Given the description of an element on the screen output the (x, y) to click on. 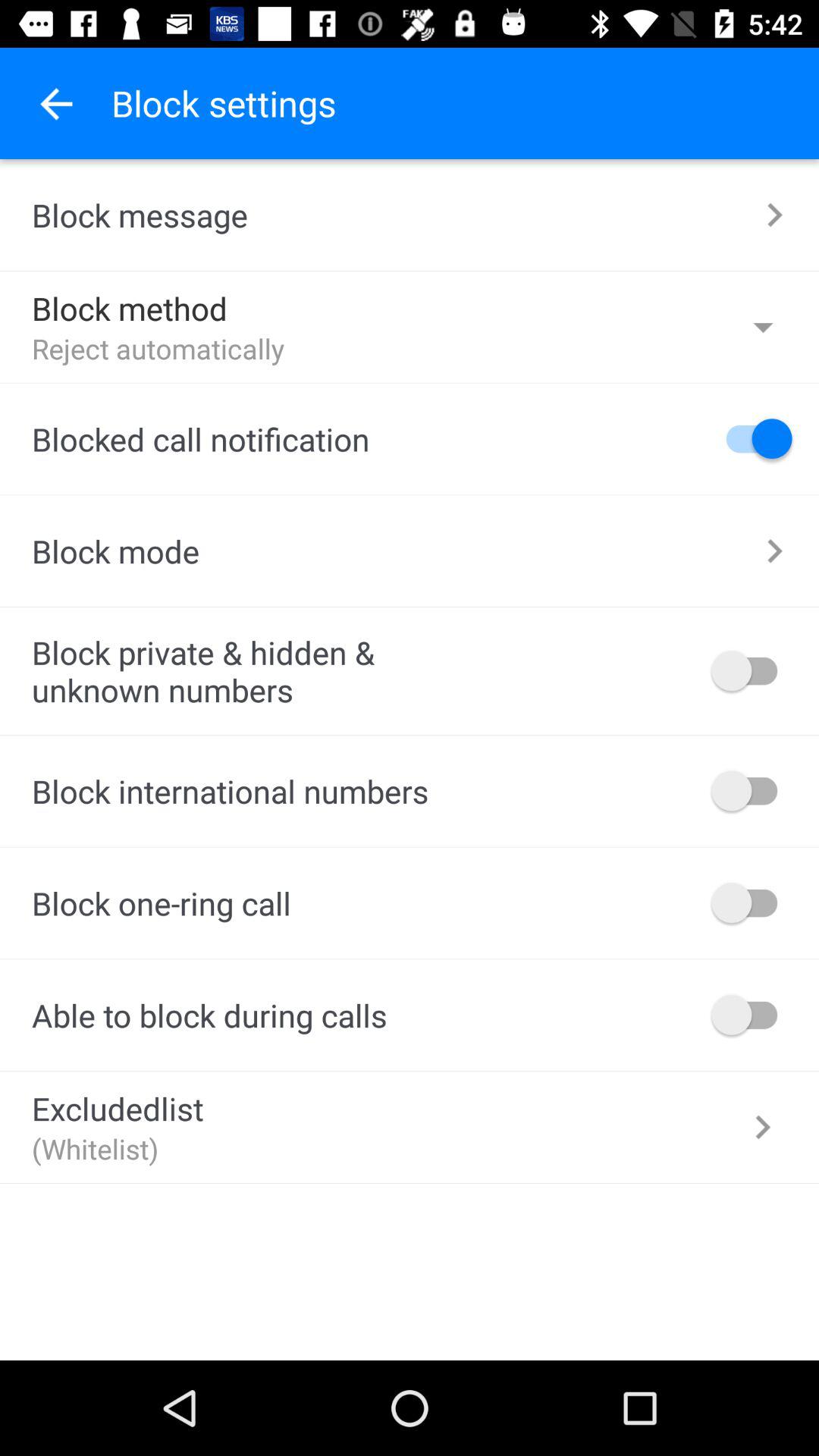
click item next to the block settings (55, 103)
